Given the description of an element on the screen output the (x, y) to click on. 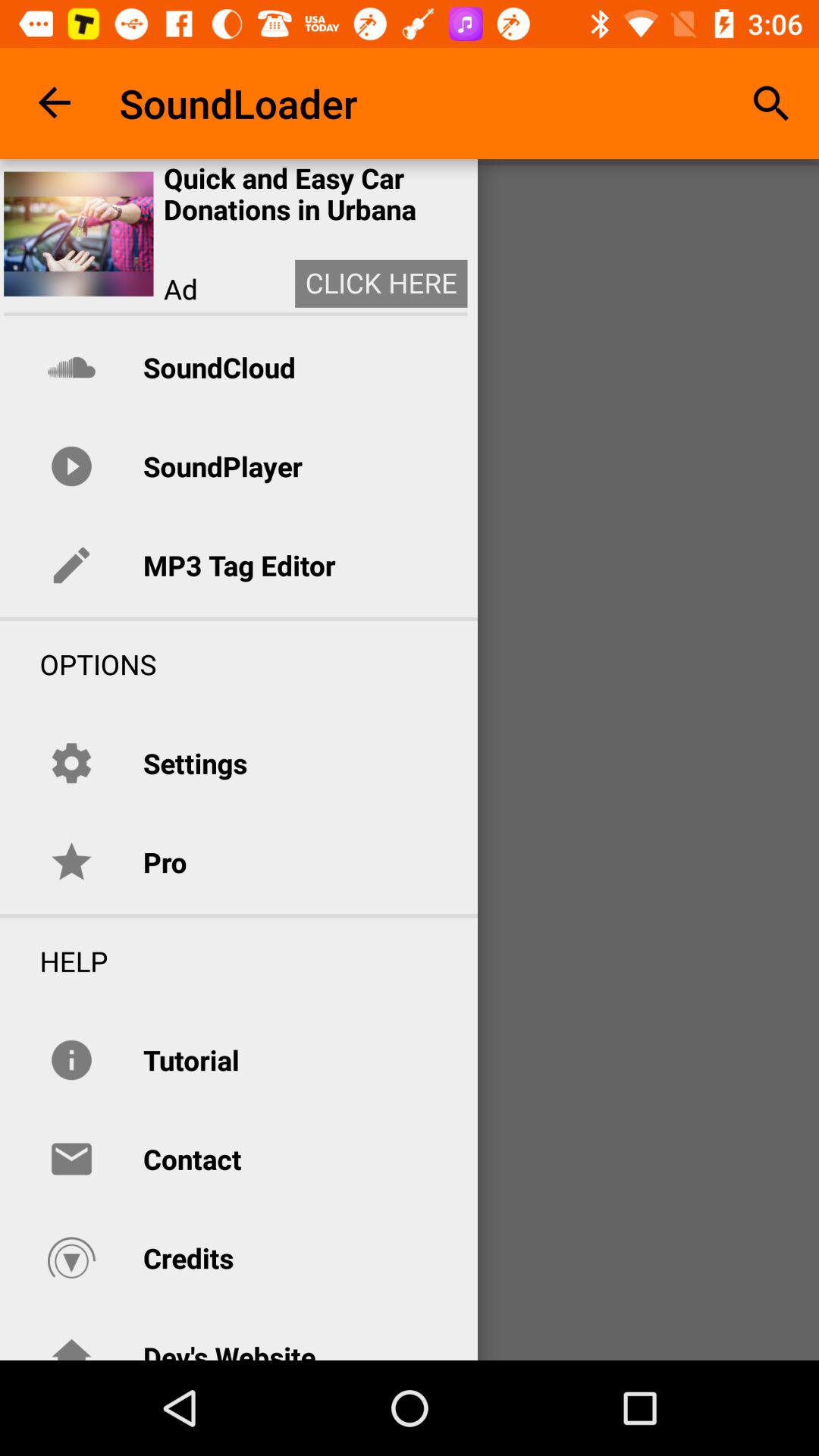
turn off item below the soundplayer item (239, 565)
